Given the description of an element on the screen output the (x, y) to click on. 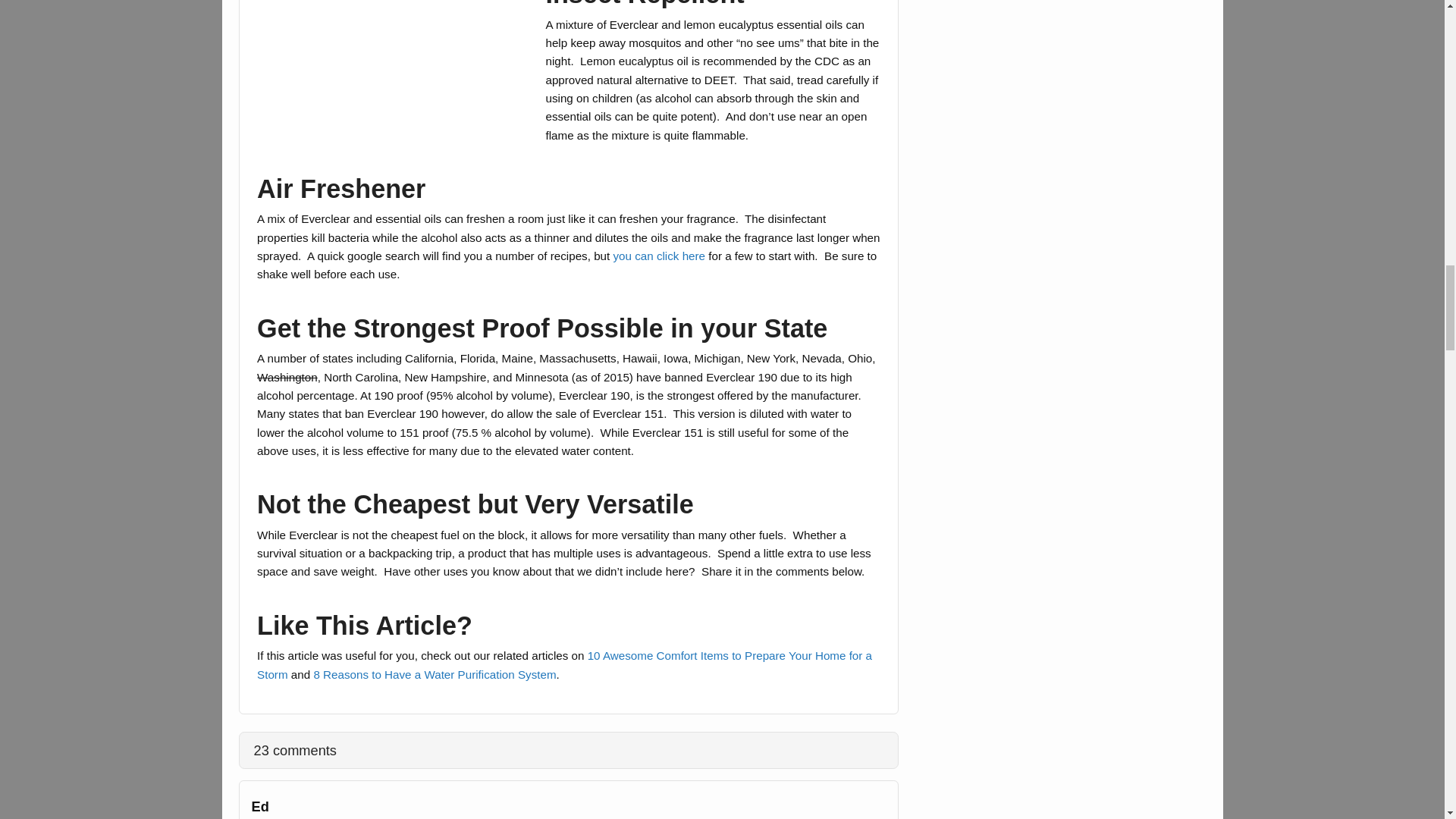
10 Awesome Comfort Items to Prepare Your Home for a Storm (564, 664)
you can click here (658, 255)
8 Reasons to Have a Water Purification System (434, 674)
